Given the description of an element on the screen output the (x, y) to click on. 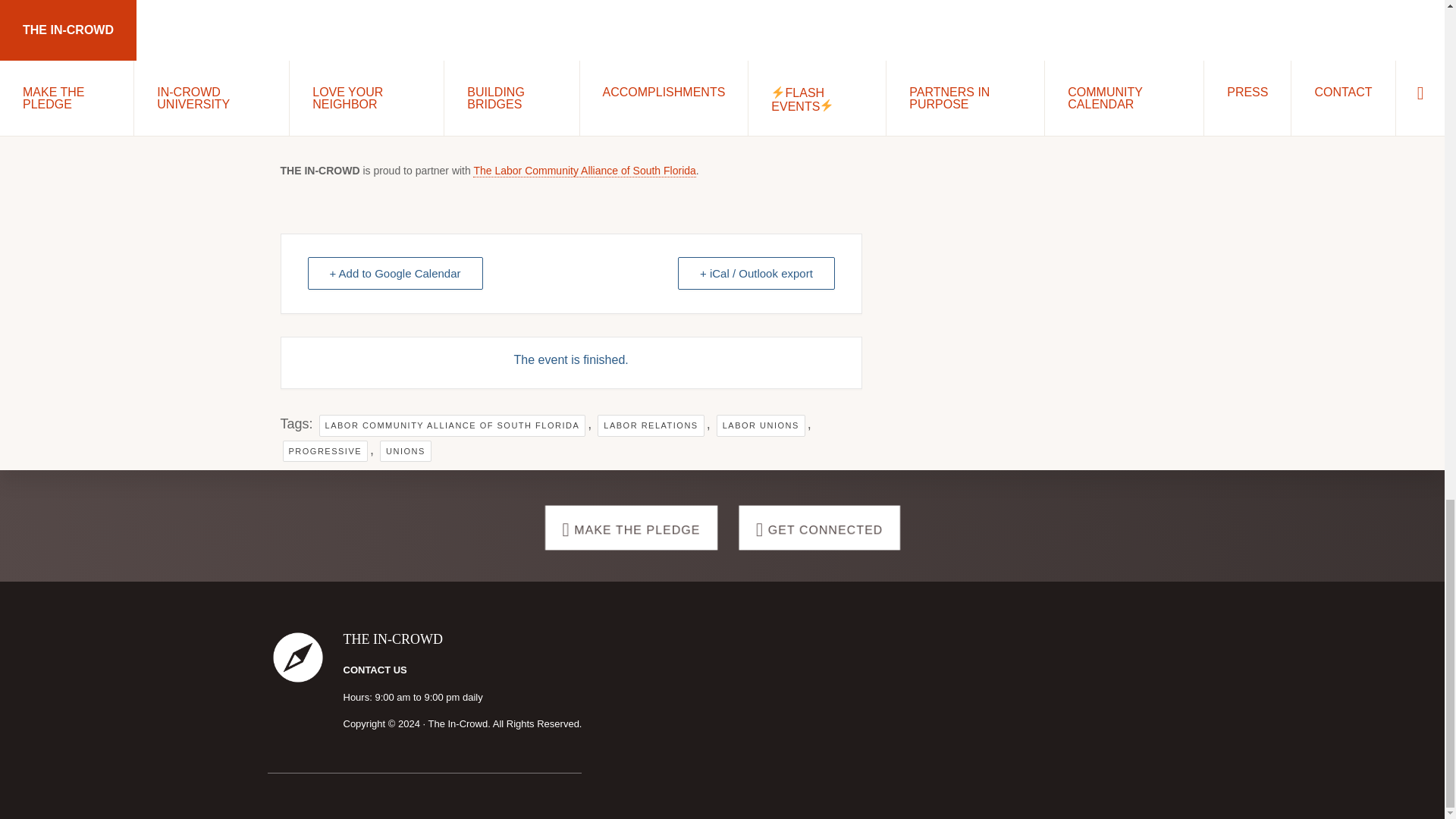
LABOR COMMUNITY ALLIANCE OF SOUTH FLORIDA (452, 425)
LABOR RELATIONS (649, 425)
The Labor Community Alliance of South Florida (584, 170)
UNIONS (405, 451)
LABOR UNIONS (760, 425)
PROGRESSIVE (325, 451)
